Given the description of an element on the screen output the (x, y) to click on. 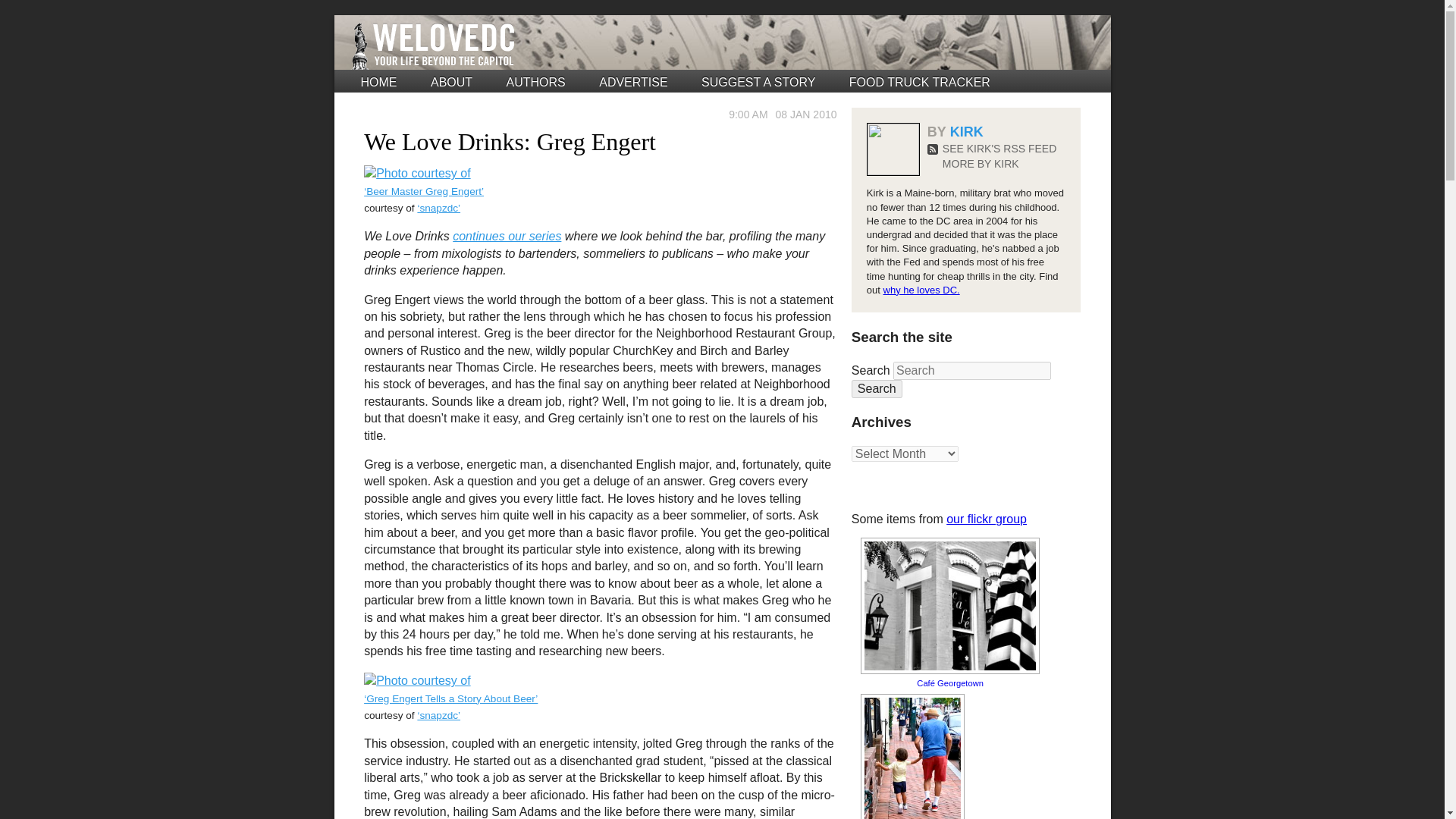
ADVERTISE (632, 82)
continues our series (506, 236)
AUTHORS (536, 82)
HOME (379, 82)
ABOUT (450, 82)
Greg Engert Tells a Story About Beer (417, 680)
Beer Master Greg Engert (417, 173)
